Given the description of an element on the screen output the (x, y) to click on. 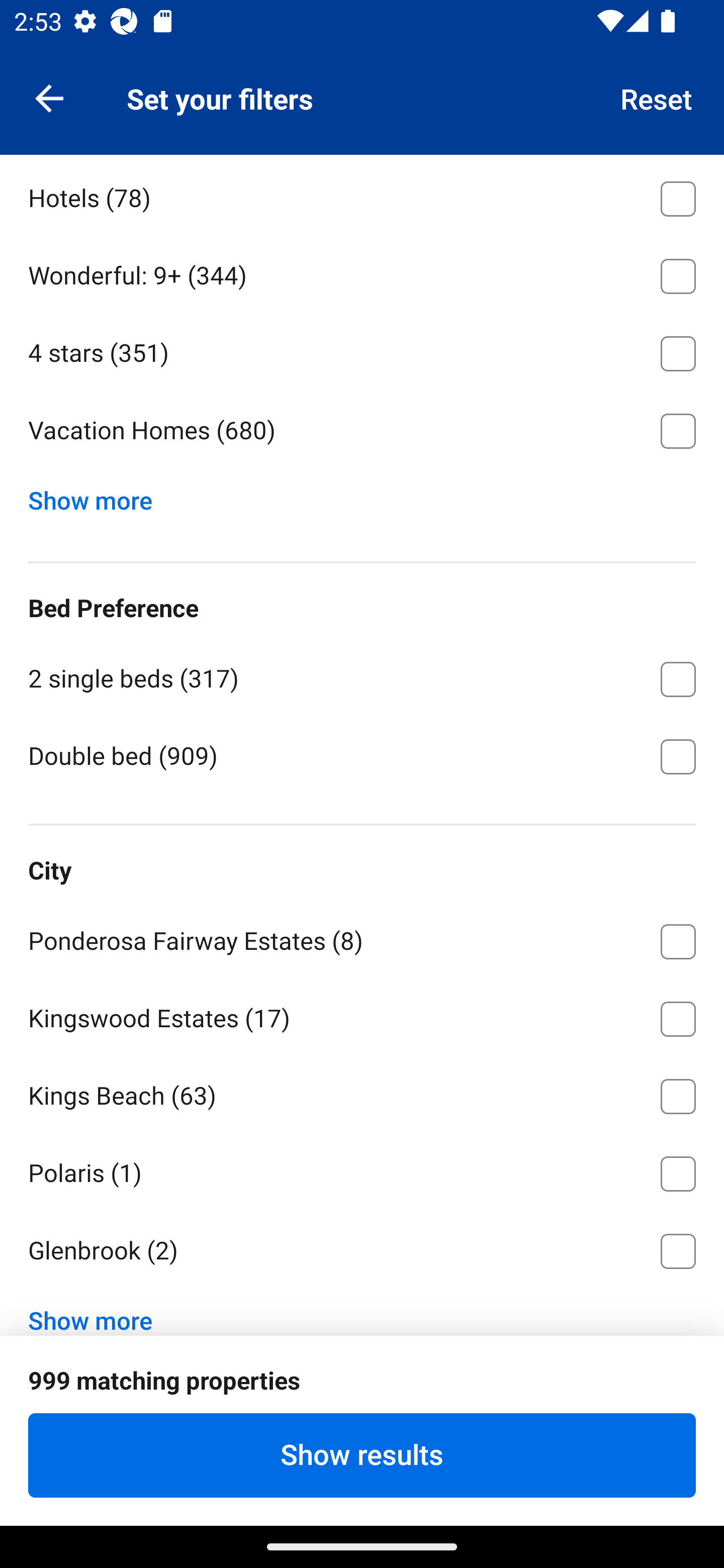
Navigate up (49, 97)
Reset (656, 97)
Hotels ⁦(78) (361, 194)
Wonderful: 9+ ⁦(344) (361, 272)
4 stars ⁦(351) (361, 350)
Vacation Homes ⁦(680) (361, 430)
Show more (97, 496)
2 single beds ⁦(317) (361, 675)
Double bed ⁦(909) (361, 754)
Ponderosa Fairway Estates ⁦(8) (361, 938)
Kingswood Estates ⁦(17) (361, 1014)
Kings Beach ⁦(63) (361, 1092)
Polaris ⁦(1) (361, 1170)
Glenbrook ⁦(2) (361, 1250)
Show more (97, 1307)
Show results (361, 1454)
